Given the description of an element on the screen output the (x, y) to click on. 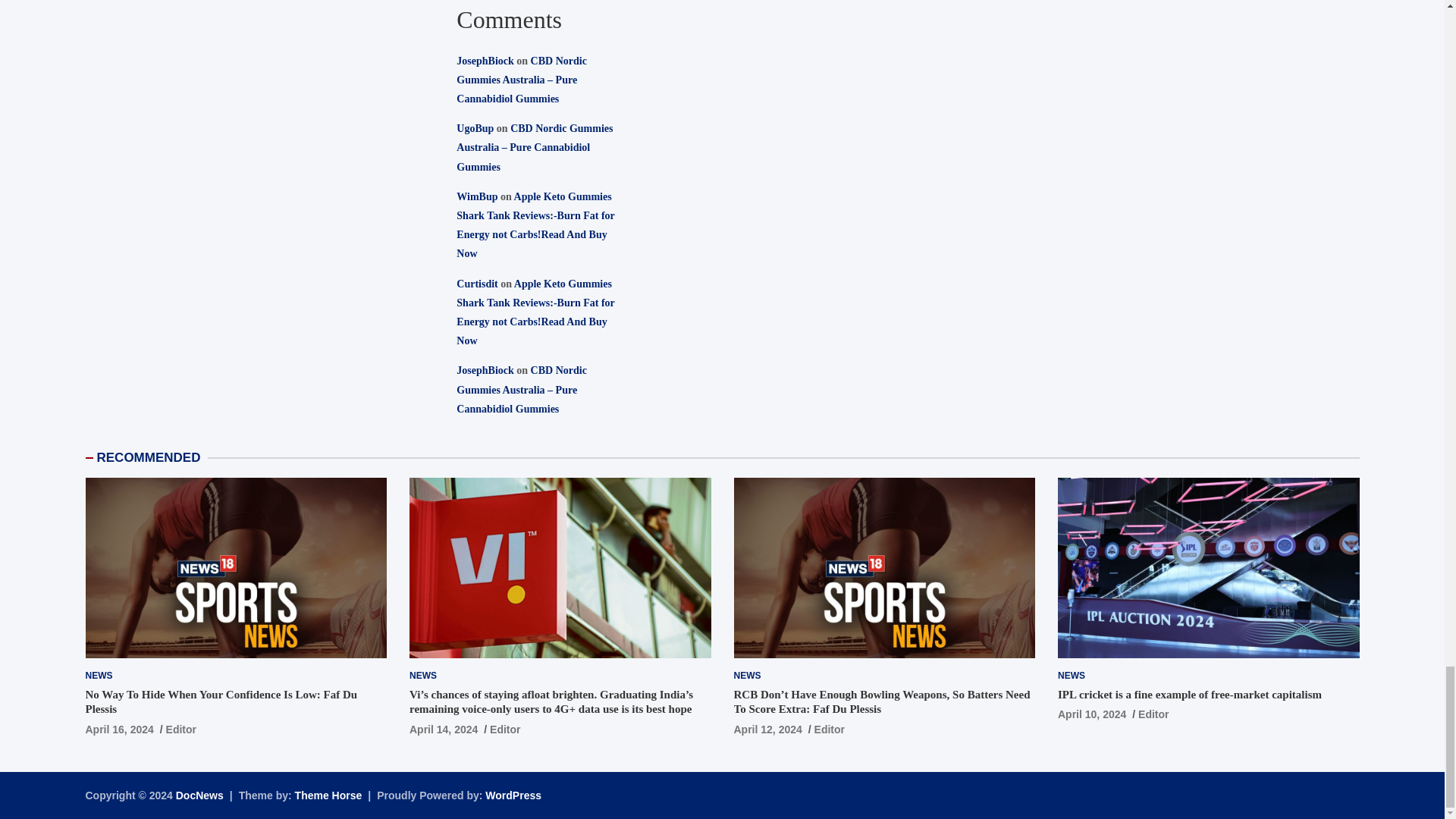
No Way To Hide When Your Confidence Is Low: Faf Du Plessis (118, 729)
IPL cricket is a fine example of free-market capitalism (1091, 714)
WordPress (512, 795)
Theme Horse (328, 795)
DocNews (200, 795)
